Given the description of an element on the screen output the (x, y) to click on. 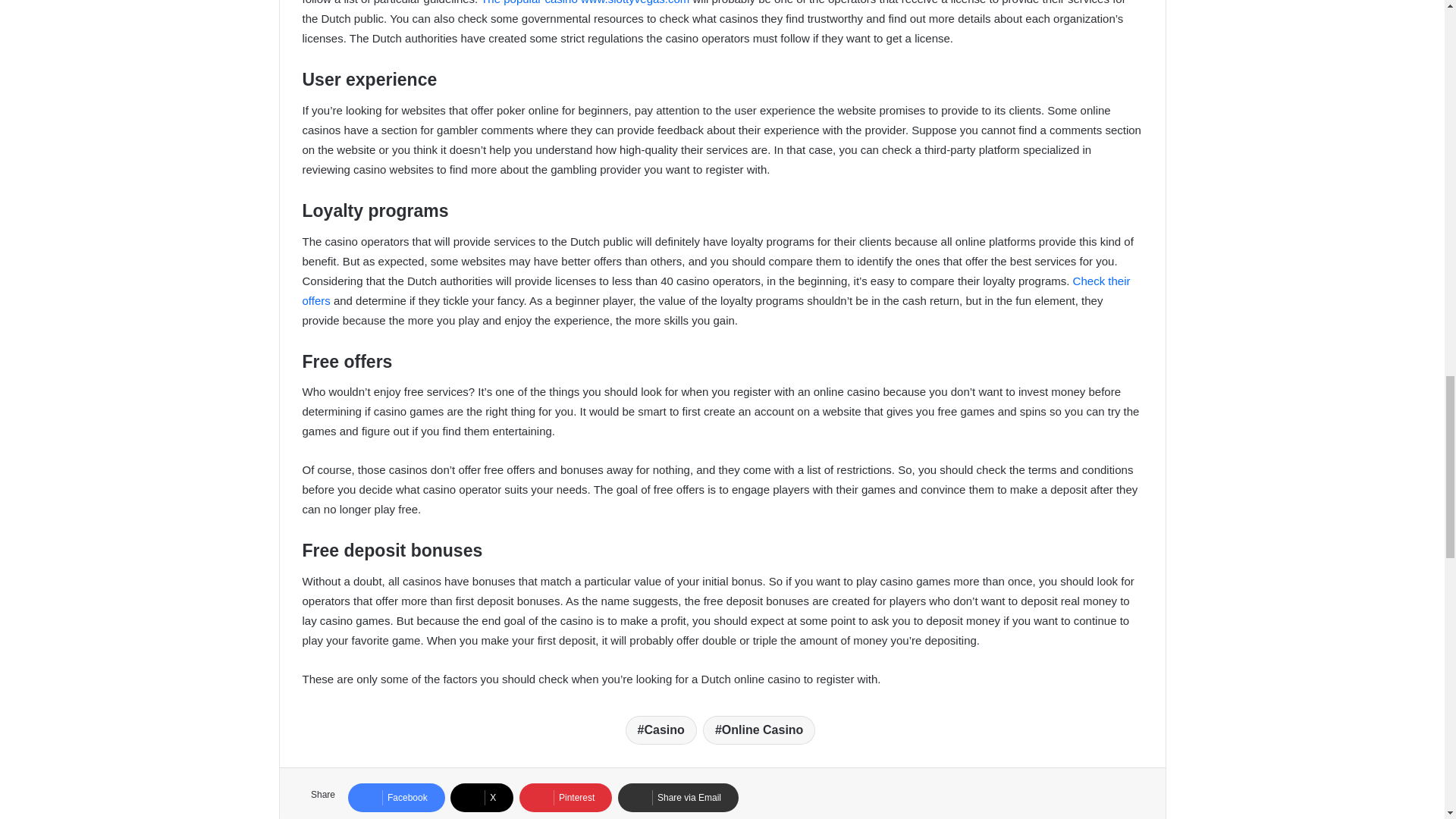
Pinterest (565, 797)
Facebook (396, 797)
X (481, 797)
